Given the description of an element on the screen output the (x, y) to click on. 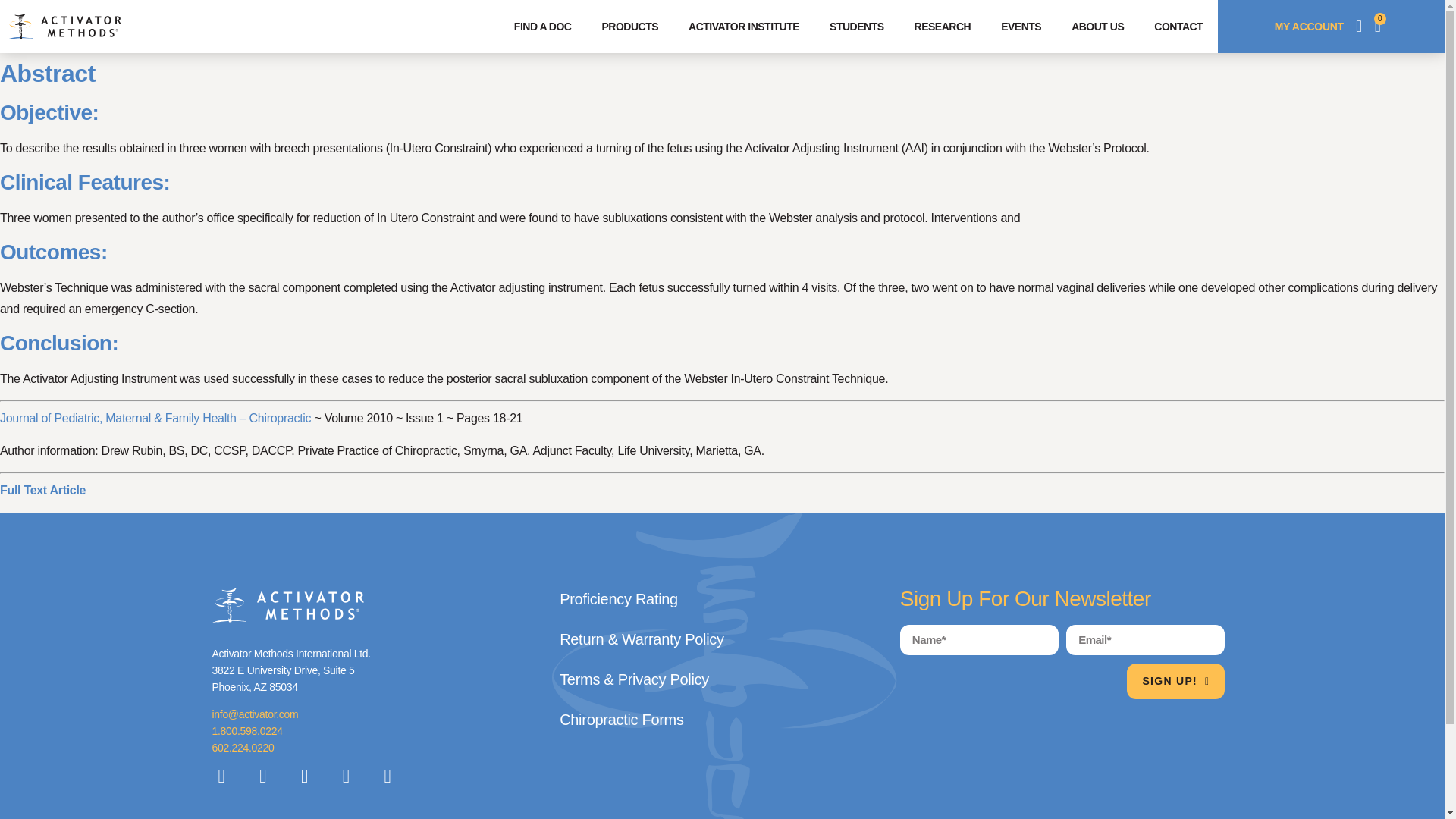
PRODUCTS (629, 26)
EVENTS (1021, 26)
CONTACT (1177, 26)
ABOUT US (1097, 26)
ACTIVATOR INSTITUTE (742, 26)
RESEARCH (943, 26)
FIND A DOC (542, 26)
STUDENTS (855, 26)
